Given the description of an element on the screen output the (x, y) to click on. 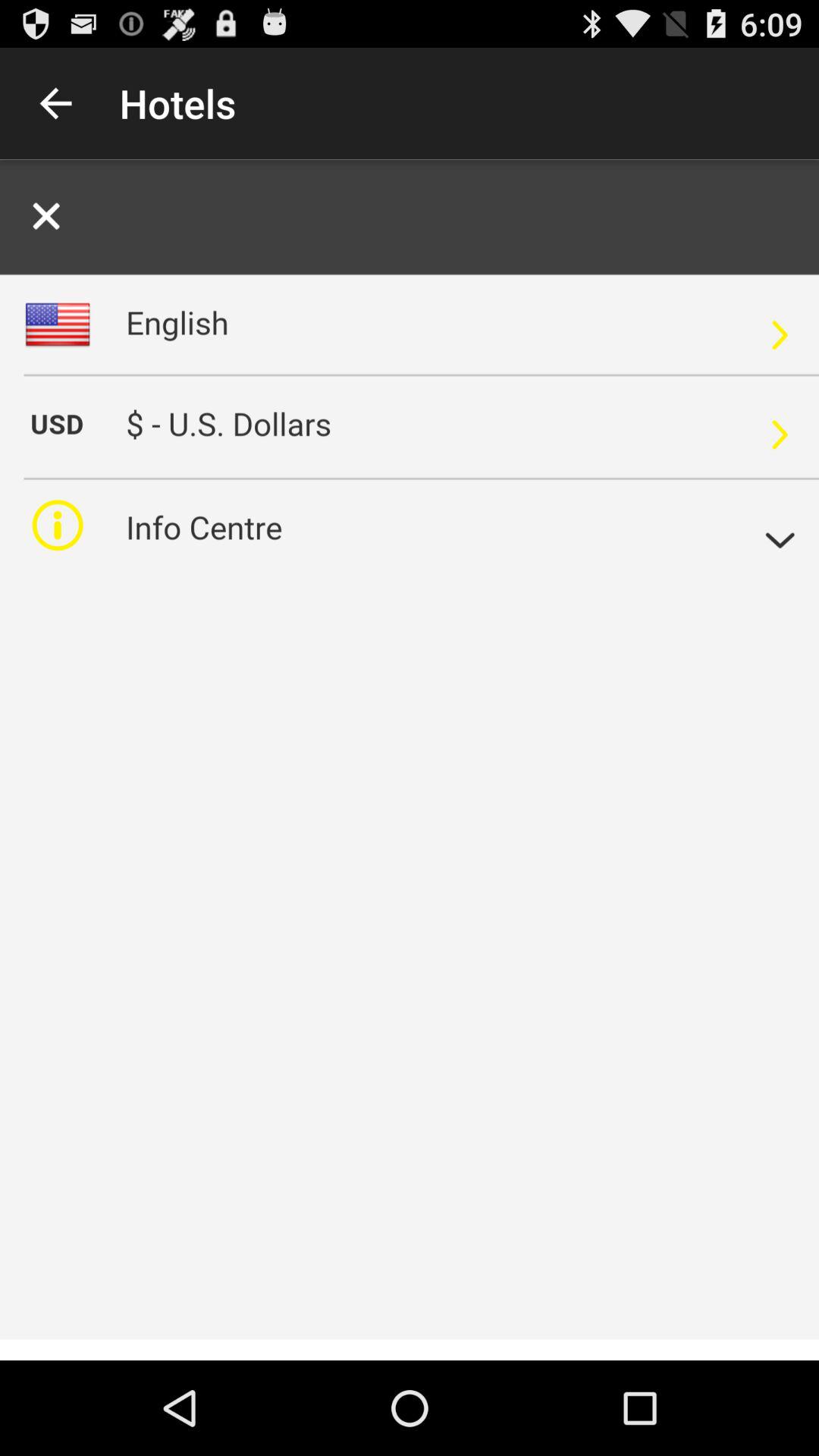
alerta para pagina (409, 759)
